Given the description of an element on the screen output the (x, y) to click on. 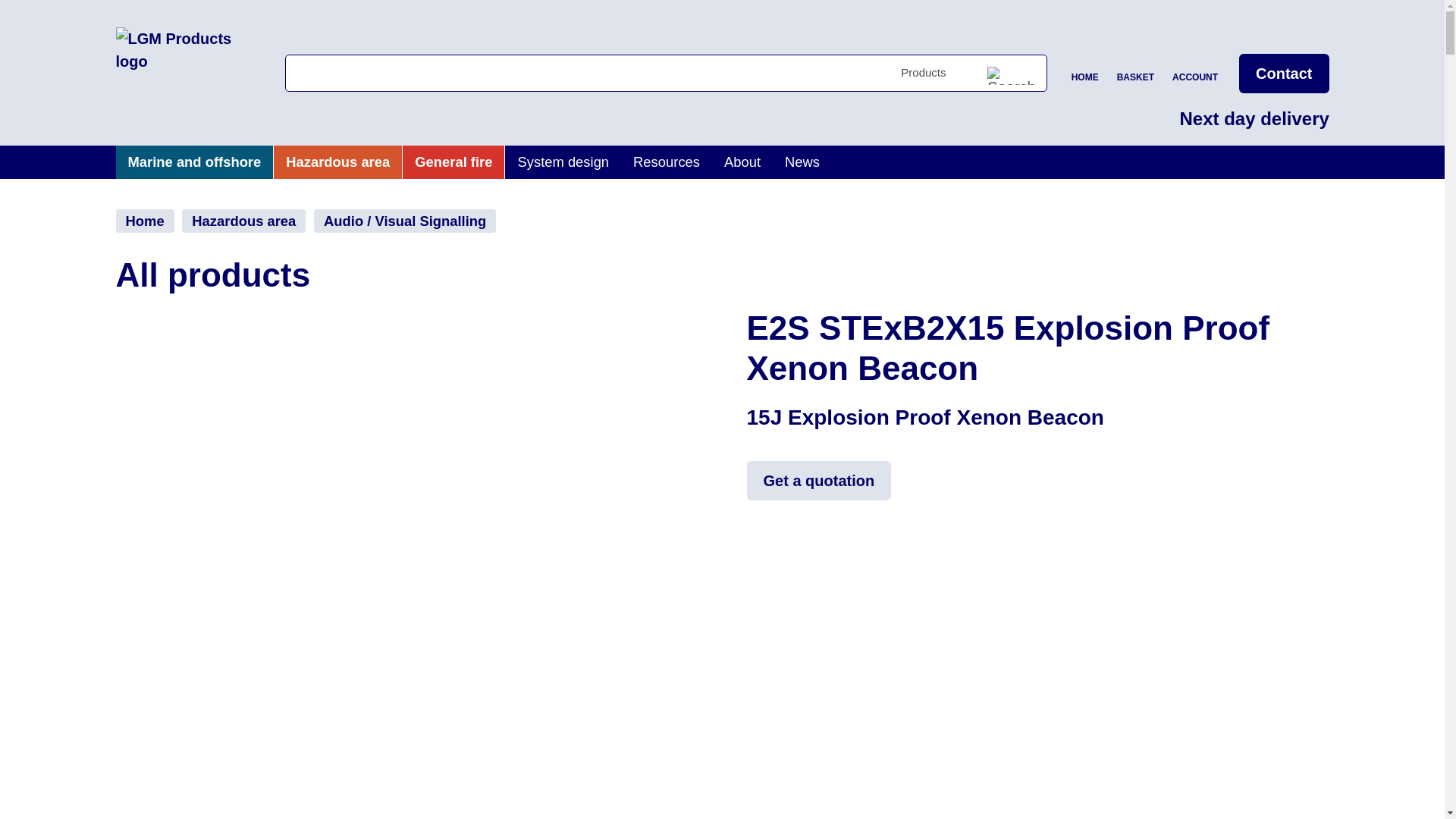
Basket (1135, 74)
HOME (1085, 74)
System design (563, 162)
Contact (1283, 73)
My account (1195, 74)
News (802, 162)
Hazardous area (338, 162)
Show all products in stock for next day delivery (1254, 121)
Next day delivery (1254, 121)
Resources (666, 162)
